Given the description of an element on the screen output the (x, y) to click on. 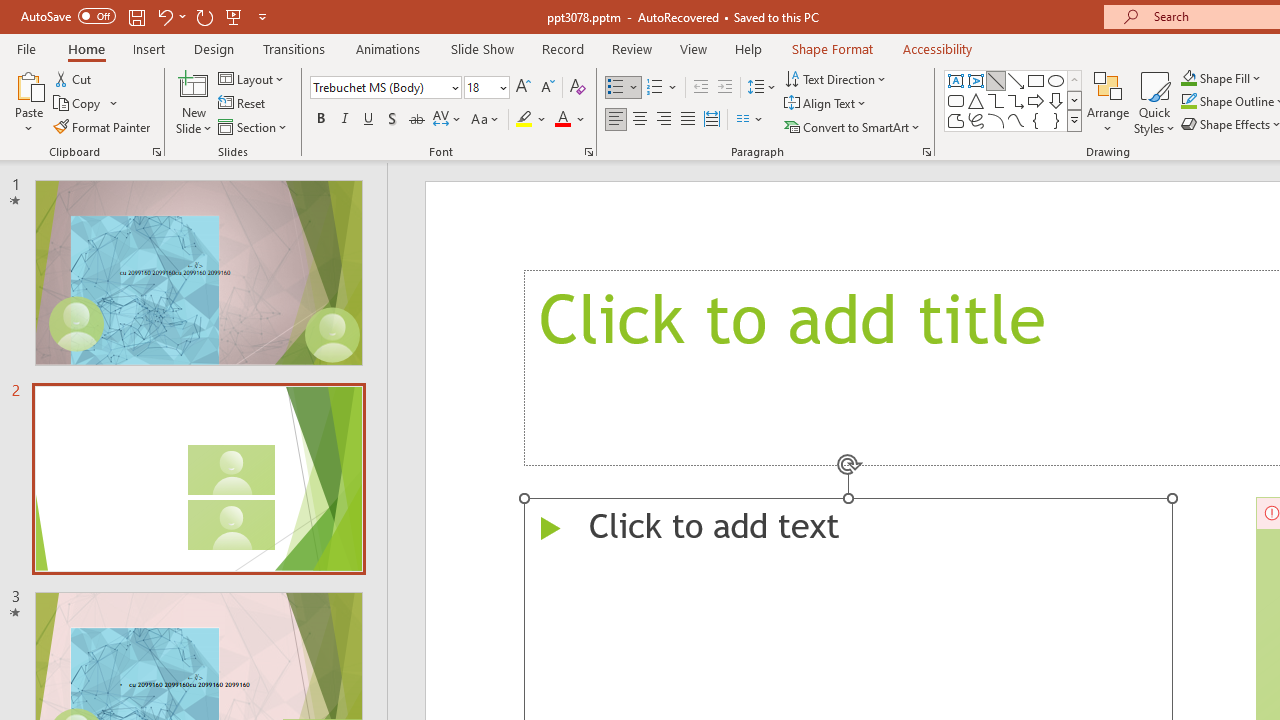
Strikethrough (416, 119)
Office Clipboard... (156, 151)
Oval (1055, 80)
Rectangle: Rounded Corners (955, 100)
Shapes (1074, 120)
Shape Fill (1221, 78)
Justify (687, 119)
Paragraph... (926, 151)
